Given the description of an element on the screen output the (x, y) to click on. 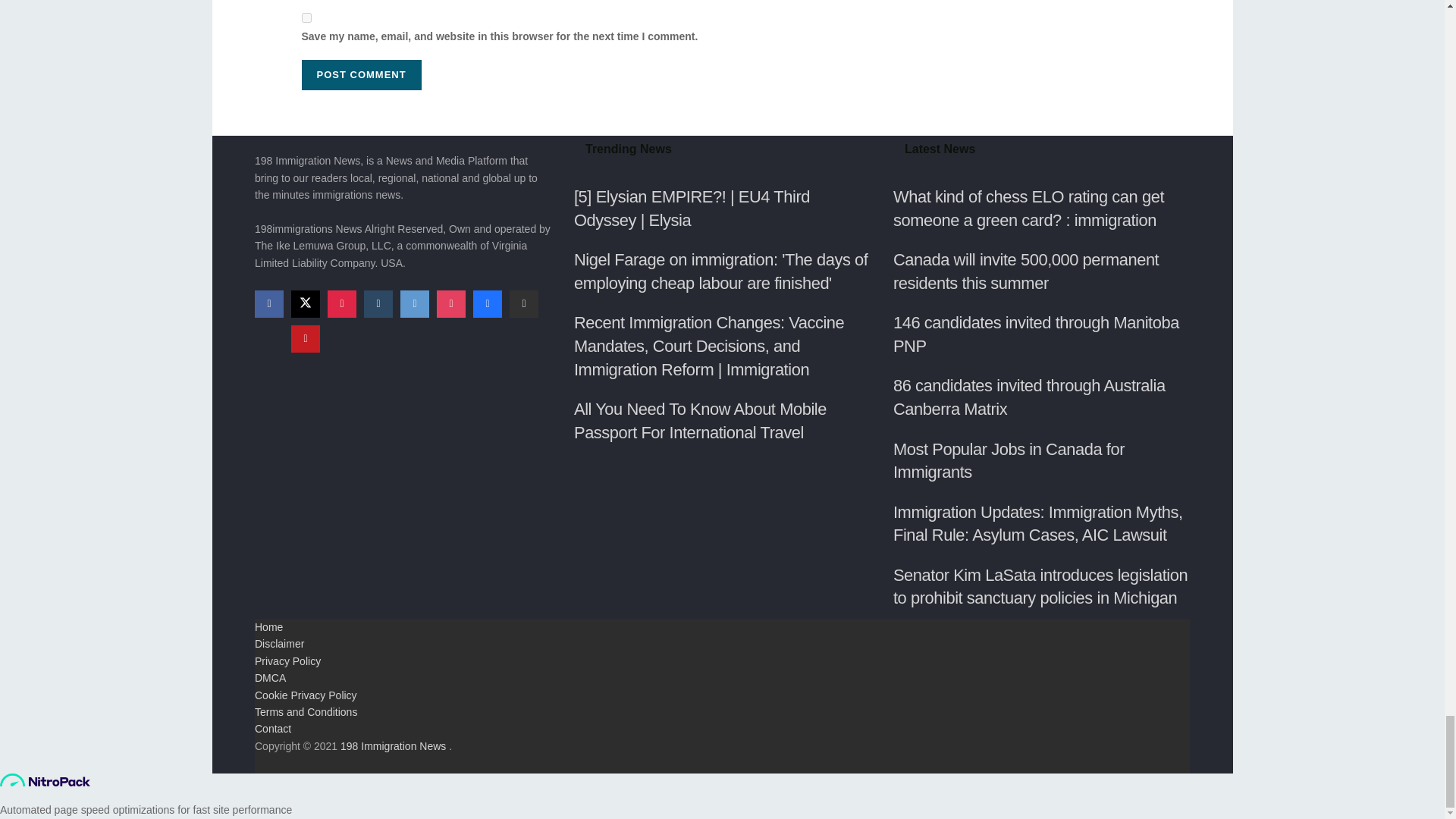
 198 Immigration News (392, 746)
yes (306, 17)
Post Comment (361, 74)
